Given the description of an element on the screen output the (x, y) to click on. 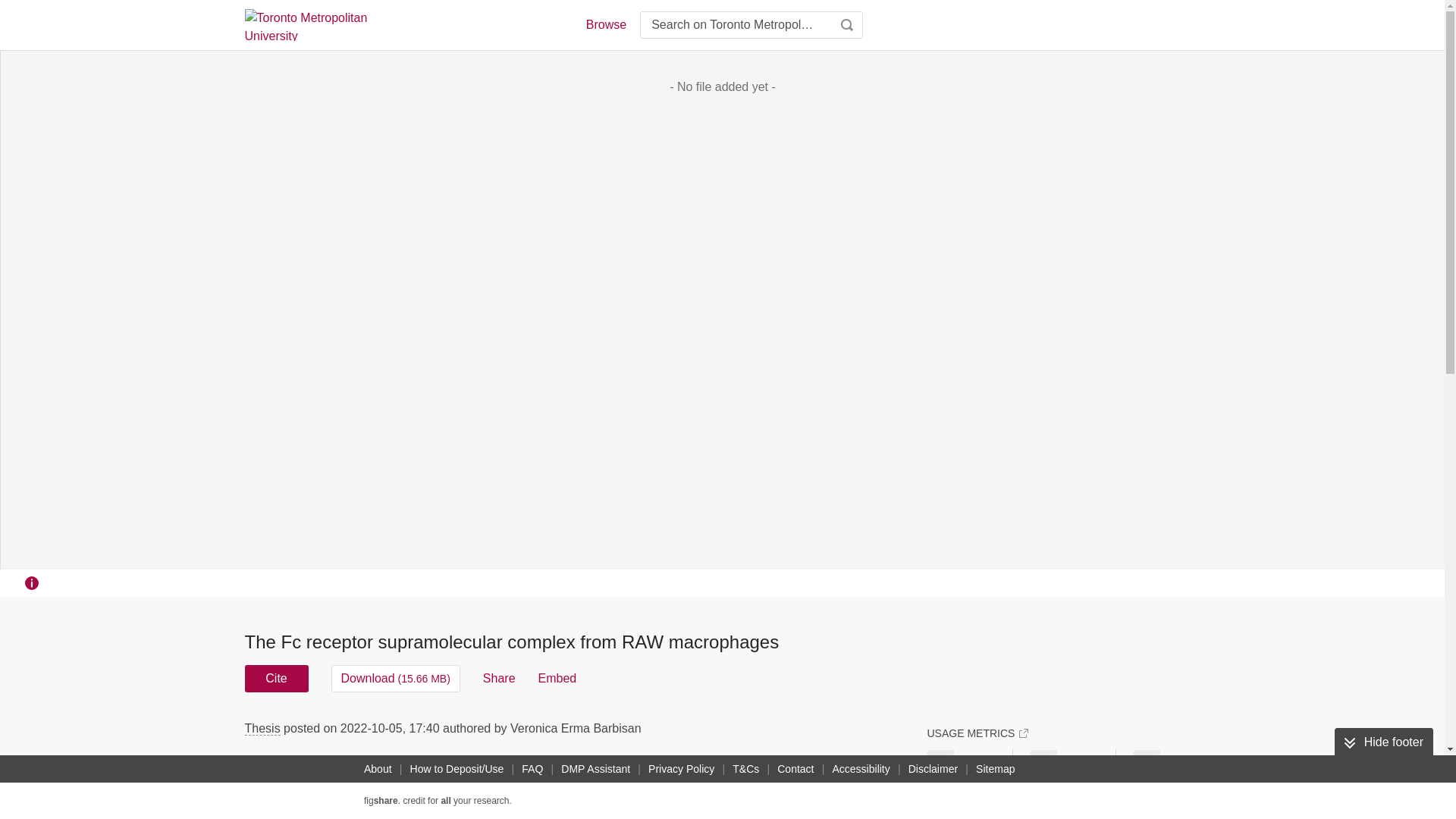
Privacy Policy (681, 769)
Sitemap (995, 769)
Contact (795, 769)
Share (499, 678)
Embed (557, 678)
FAQ (531, 769)
Accessibility (861, 769)
USAGE METRICS (976, 732)
Cite (275, 678)
DMP Assistant (595, 769)
